Given the description of an element on the screen output the (x, y) to click on. 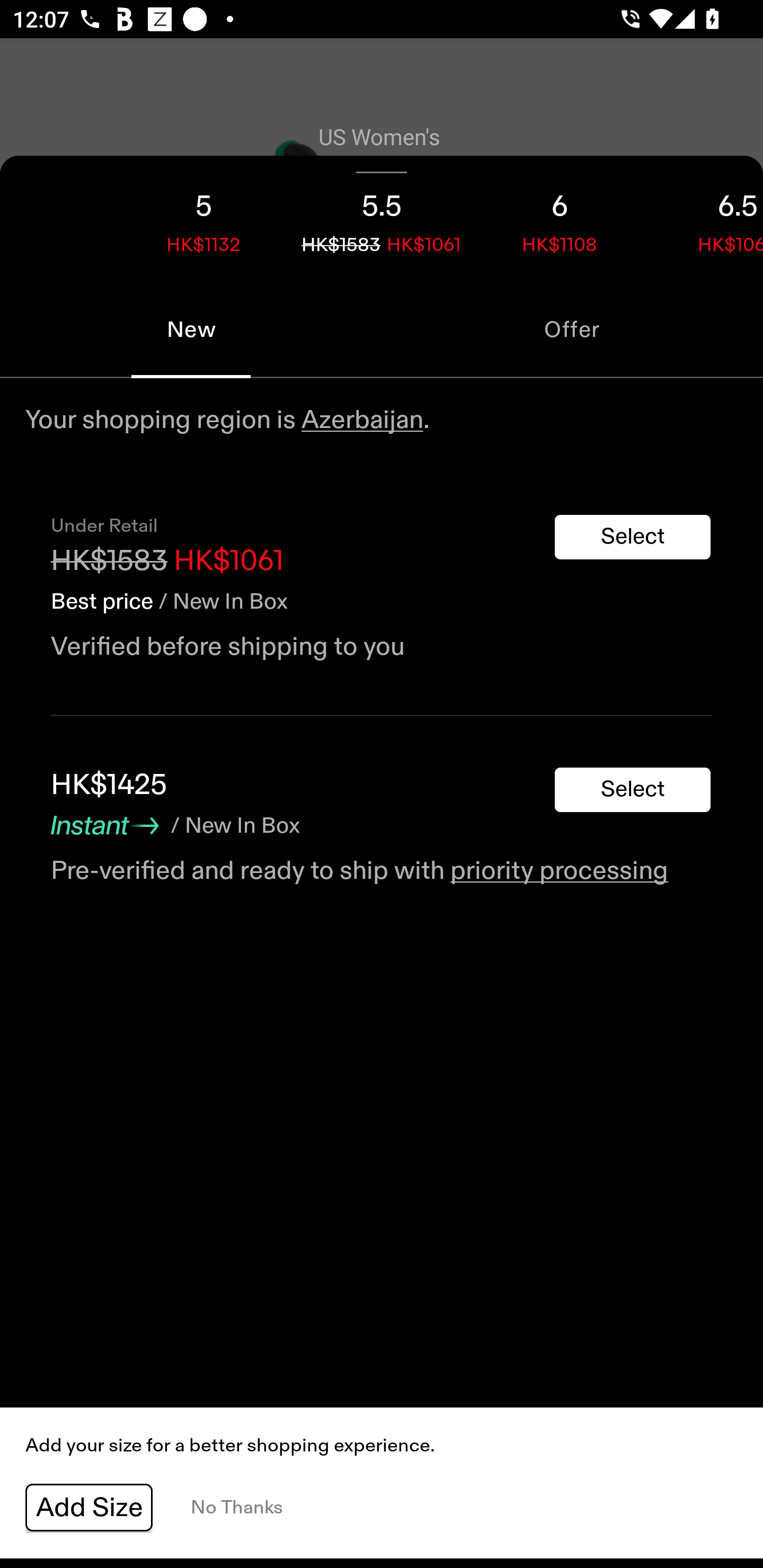
5 HK$1132 (203, 218)
5.5 HK$1583 HK$1061 (381, 218)
6 HK$1108 (559, 218)
6.5 HK$1068 (705, 218)
Offer (572, 329)
Select (632, 536)
HK$1425 (109, 785)
Select (632, 789)
No Thanks (236, 1507)
Add Size (88, 1507)
